Given the description of an element on the screen output the (x, y) to click on. 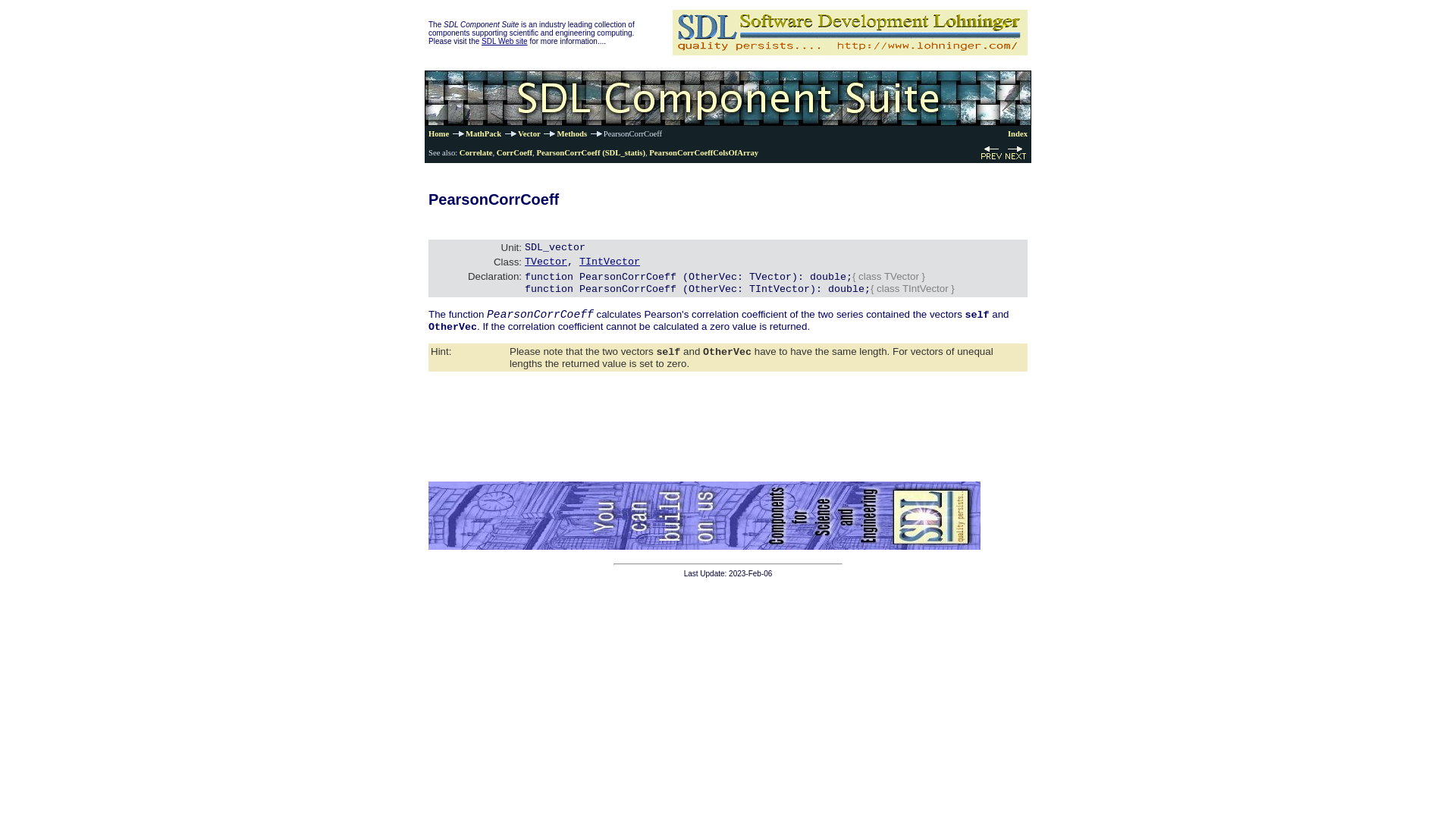
Correlate (476, 152)
TIntVector (609, 261)
SDL Web site (504, 40)
Advertisement (703, 514)
Index (1017, 133)
Home (438, 133)
Advertisement (849, 32)
Methods (571, 133)
CorrCoeff (514, 152)
PearsonCorrCoeffColsOfArray (703, 152)
Vector (529, 133)
MathPack (482, 133)
TVector (545, 261)
